Given the description of an element on the screen output the (x, y) to click on. 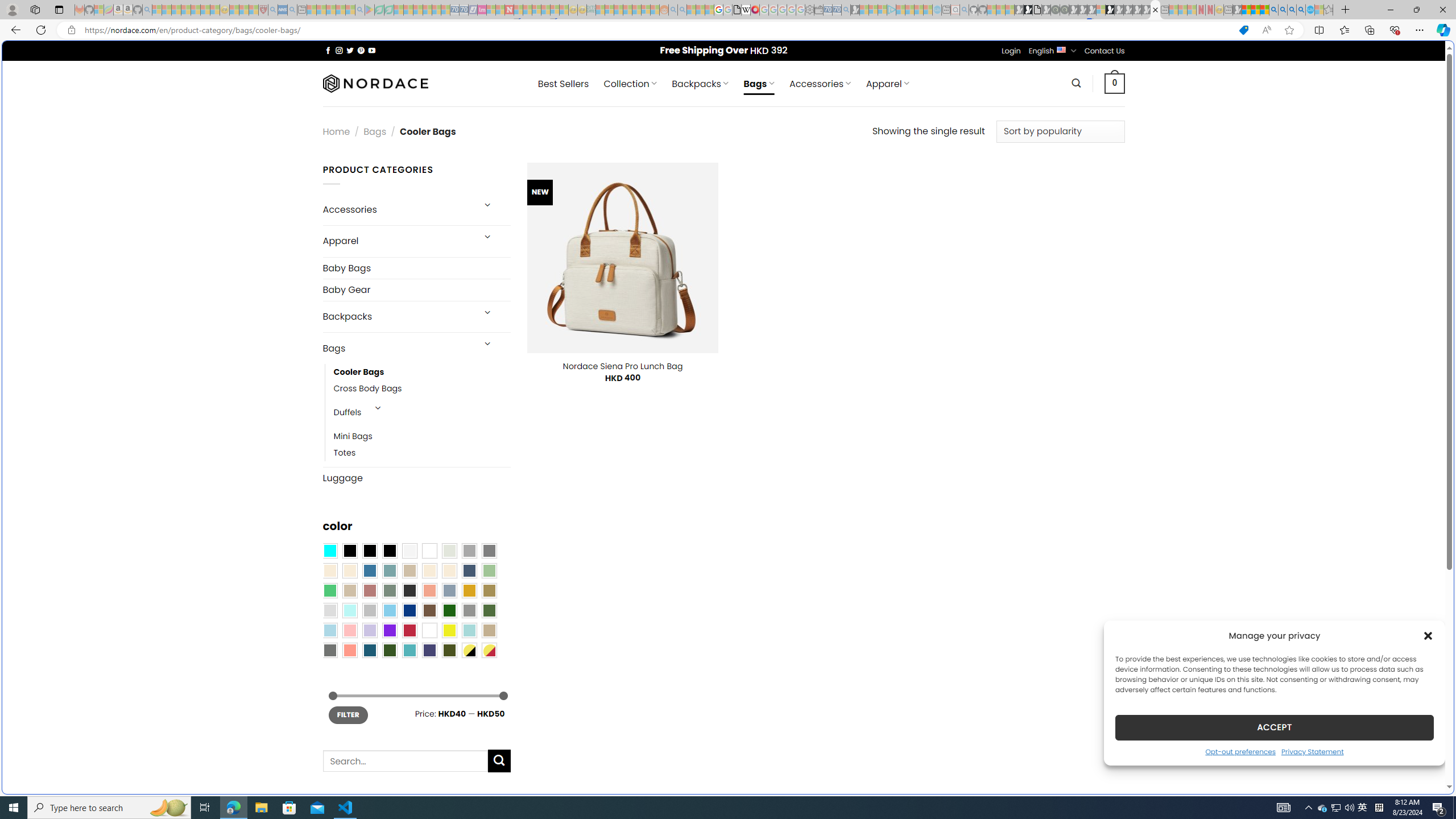
Khaki (488, 630)
FILTER (347, 714)
Emerald Green (329, 590)
Black-Brown (389, 550)
Peach Pink (349, 649)
Baby Gear (416, 289)
English (1061, 49)
Silver (369, 610)
Mini Bags (352, 436)
2009 Bing officially replaced Live Search on June 3 - Search (1283, 9)
